Given the description of an element on the screen output the (x, y) to click on. 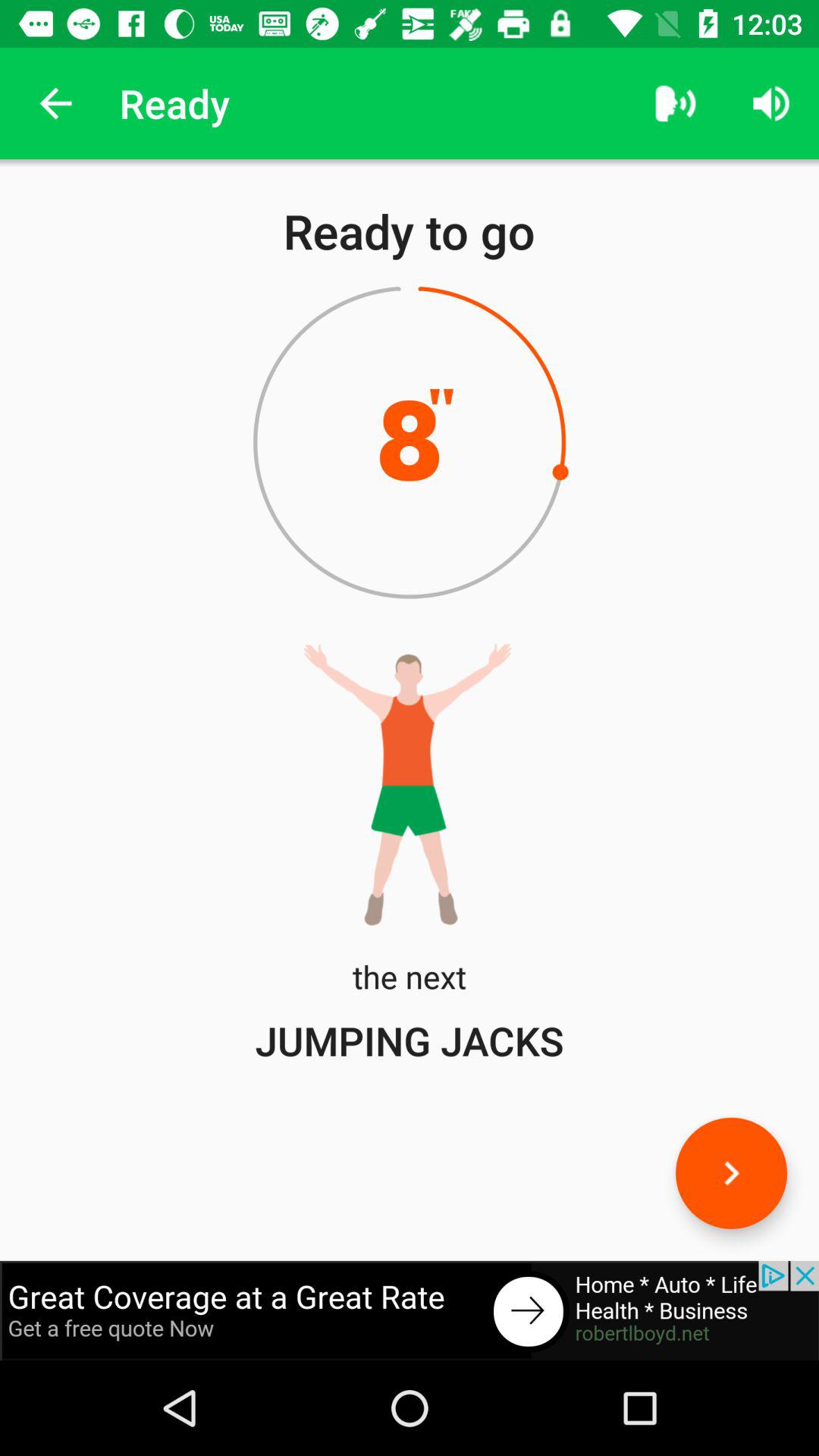
start workout (731, 1173)
